Given the description of an element on the screen output the (x, y) to click on. 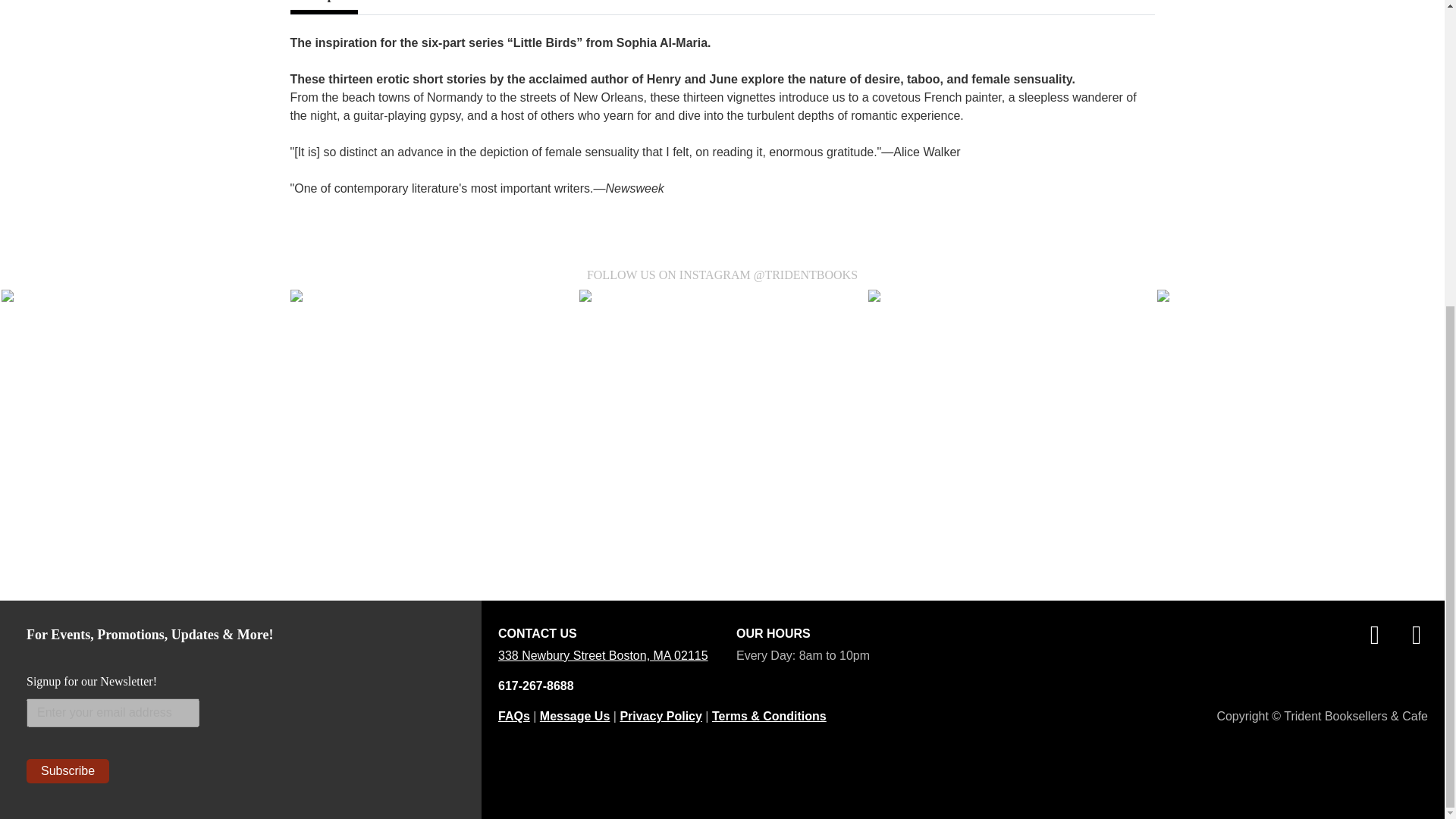
Subscribe (67, 770)
Enter your email address (112, 712)
Description (322, 7)
About the Author (427, 2)
